Given the description of an element on the screen output the (x, y) to click on. 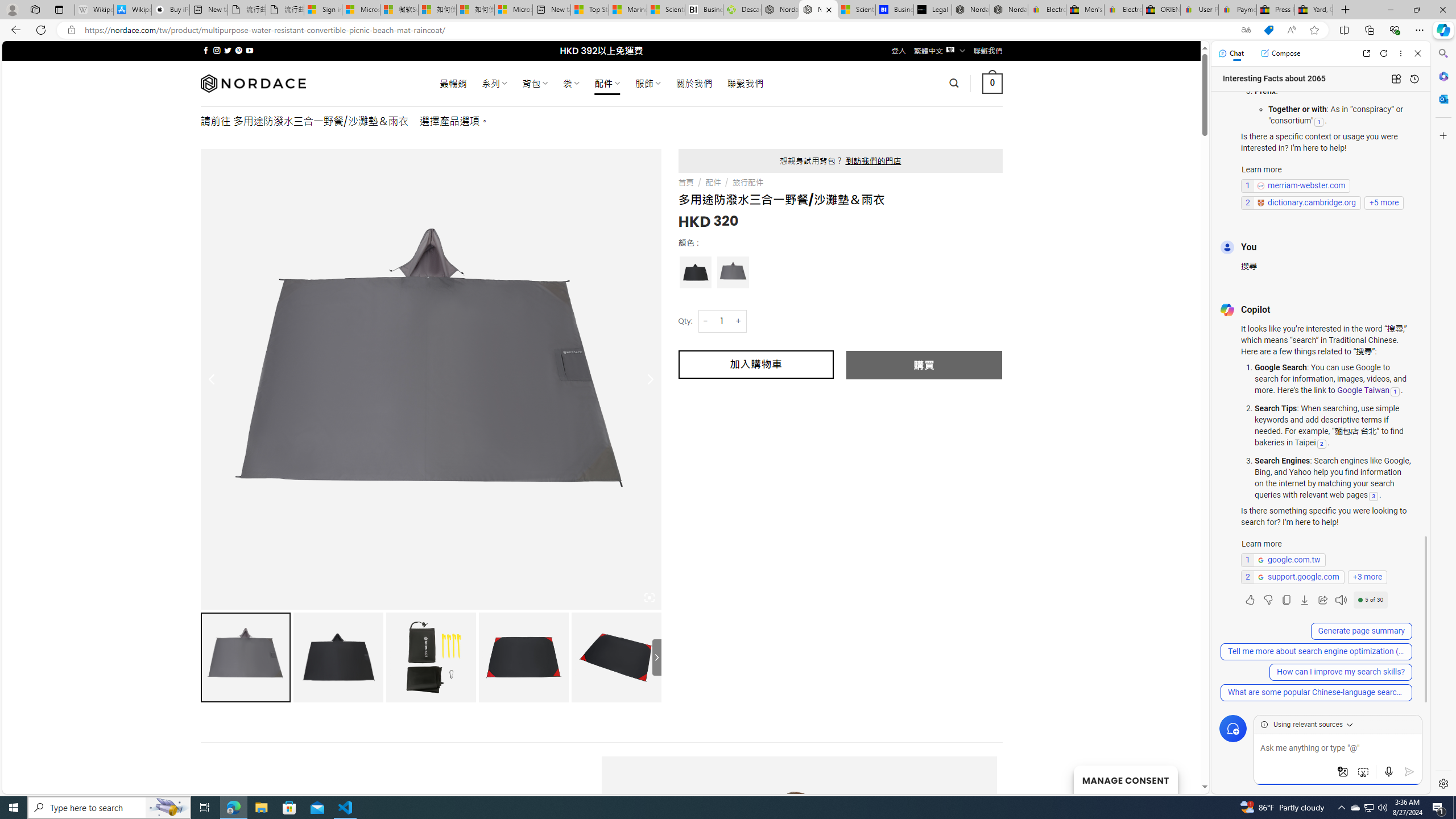
+ (738, 320)
